Given the description of an element on the screen output the (x, y) to click on. 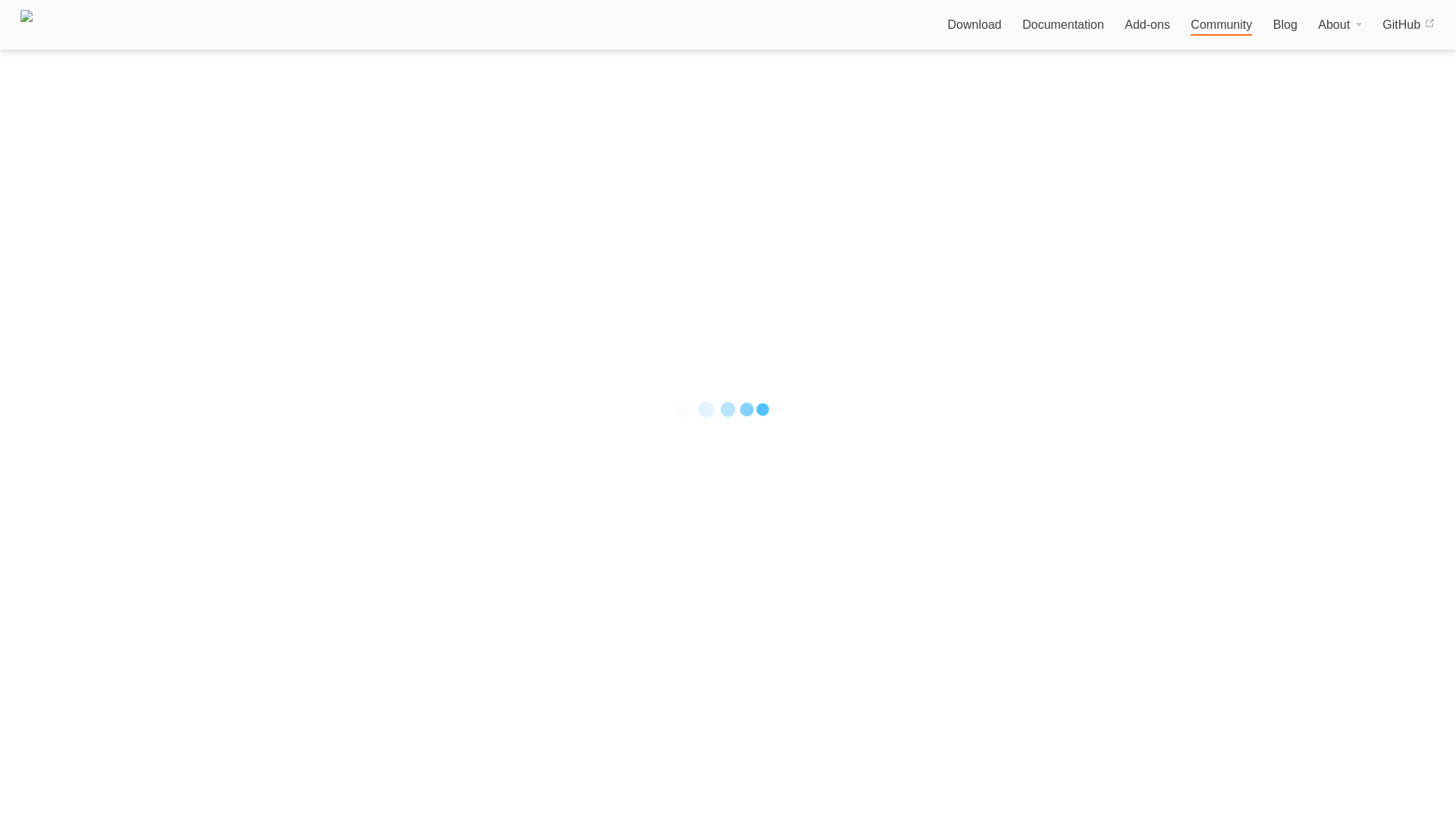
Add-ons (1147, 25)
GitHub (1407, 25)
Documentation (1062, 25)
Blog (1284, 25)
About (1339, 25)
Community (1221, 25)
Download (974, 25)
